Given the description of an element on the screen output the (x, y) to click on. 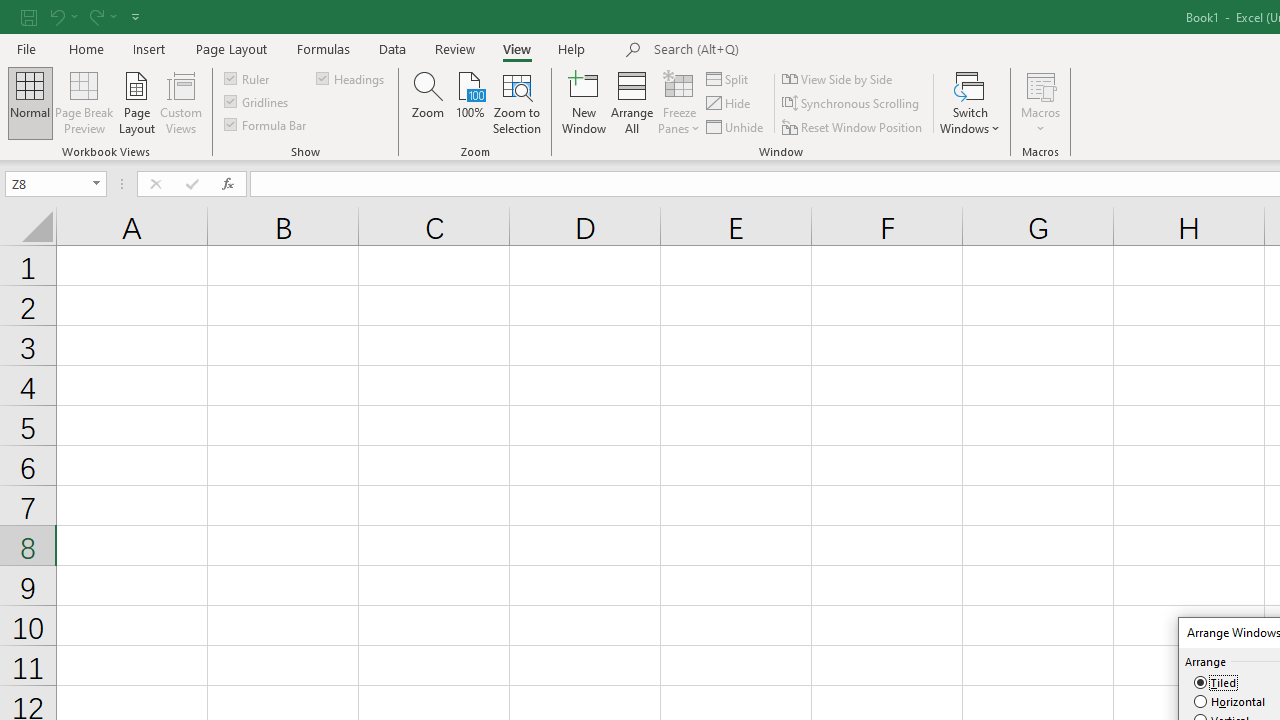
Headings (351, 78)
View Macros (1040, 84)
Ruler (248, 78)
Horizontal (1231, 701)
Microsoft search (792, 49)
Unhide... (736, 126)
